Given the description of an element on the screen output the (x, y) to click on. 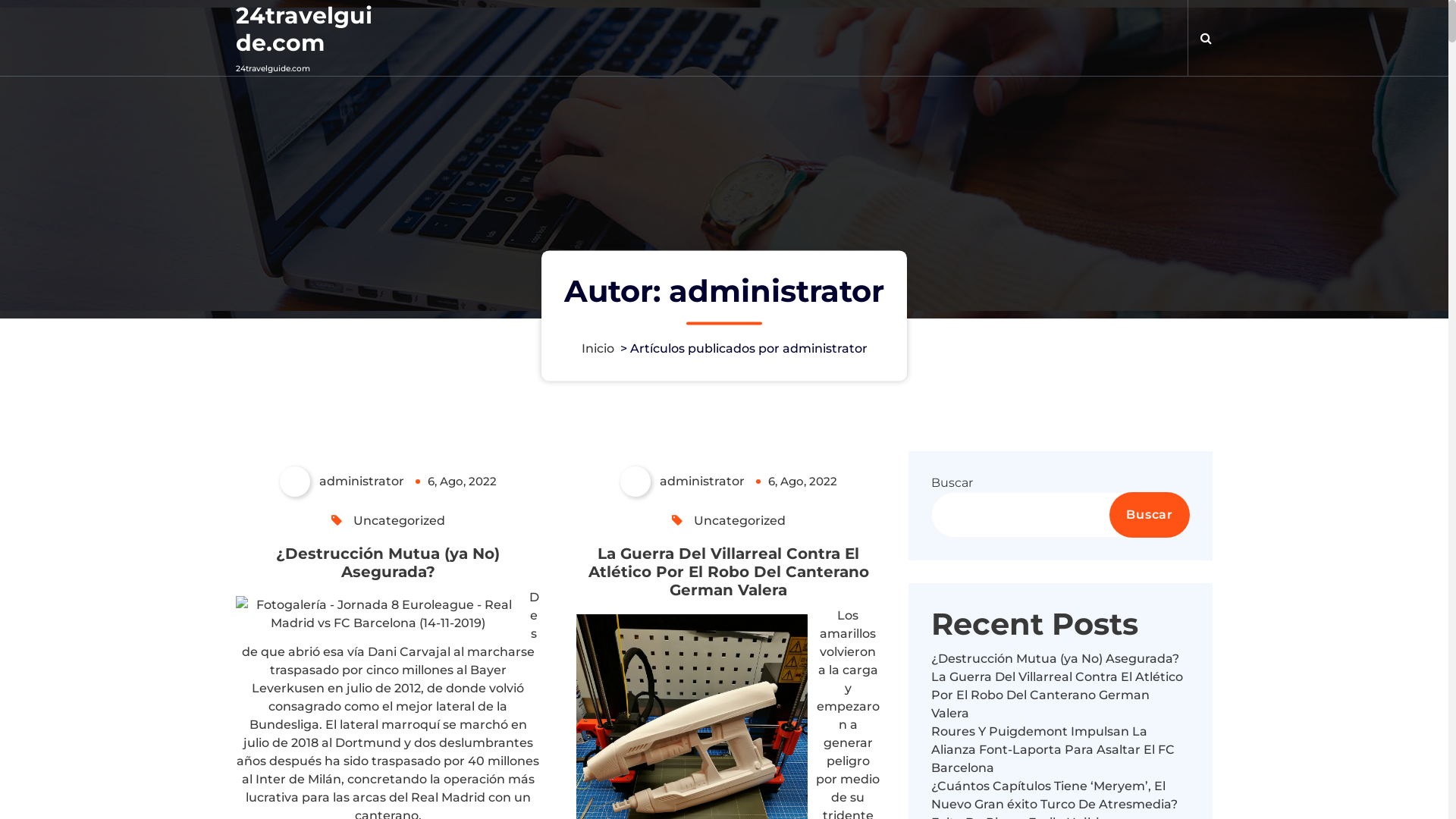
Buscar Element type: text (1149, 514)
administrator Element type: text (341, 481)
Uncategorized Element type: text (399, 520)
administrator Element type: text (682, 481)
Inicio Element type: text (596, 348)
Uncategorized Element type: text (739, 520)
24travelguide.com Element type: text (309, 29)
